Given the description of an element on the screen output the (x, y) to click on. 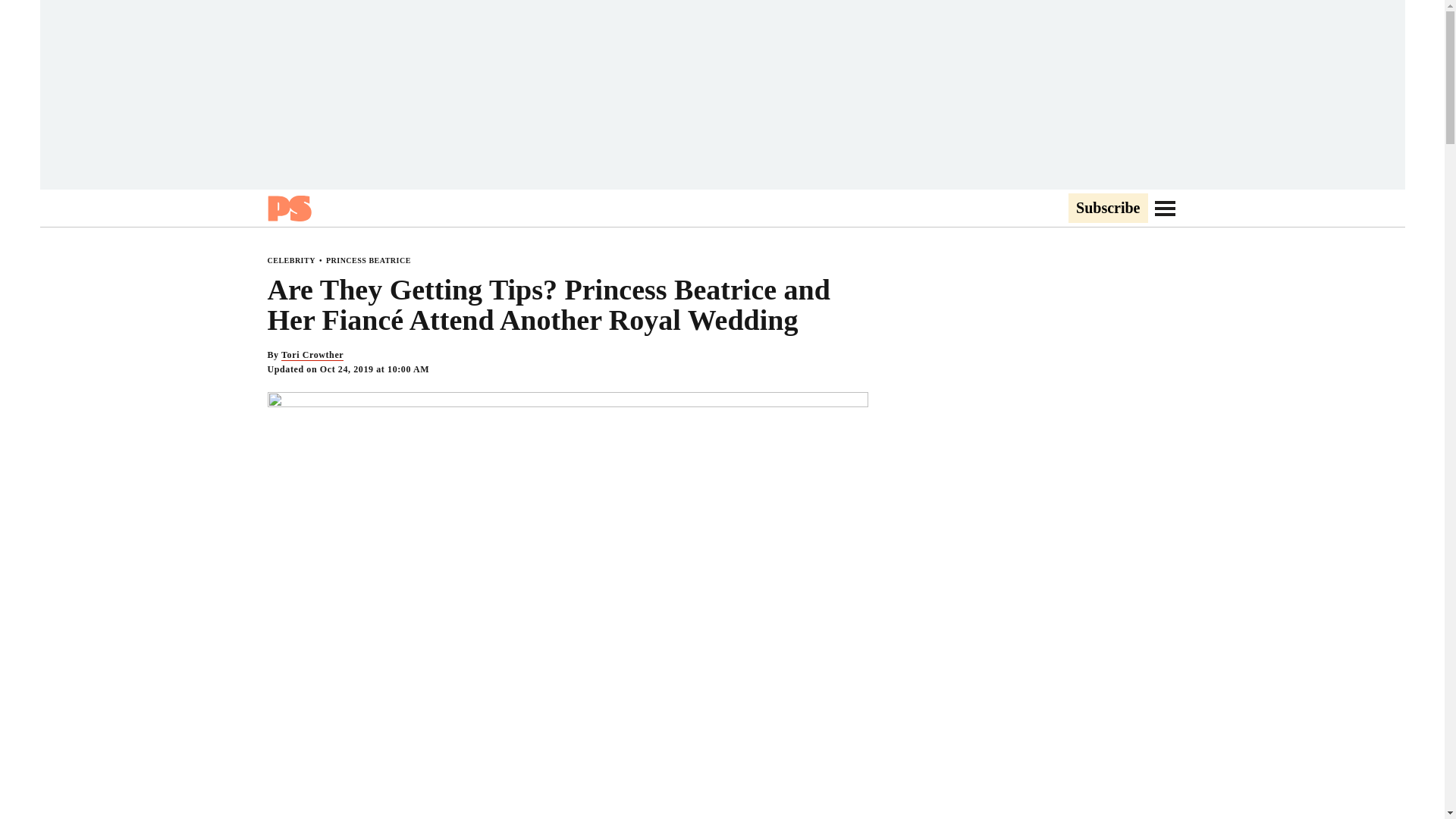
PRINCESS BEATRICE (368, 260)
Go to Navigation (1164, 207)
Subscribe (1107, 208)
Popsugar (288, 208)
CELEBRITY (290, 260)
Tori Crowther (312, 355)
Go to Navigation (1164, 207)
